Given the description of an element on the screen output the (x, y) to click on. 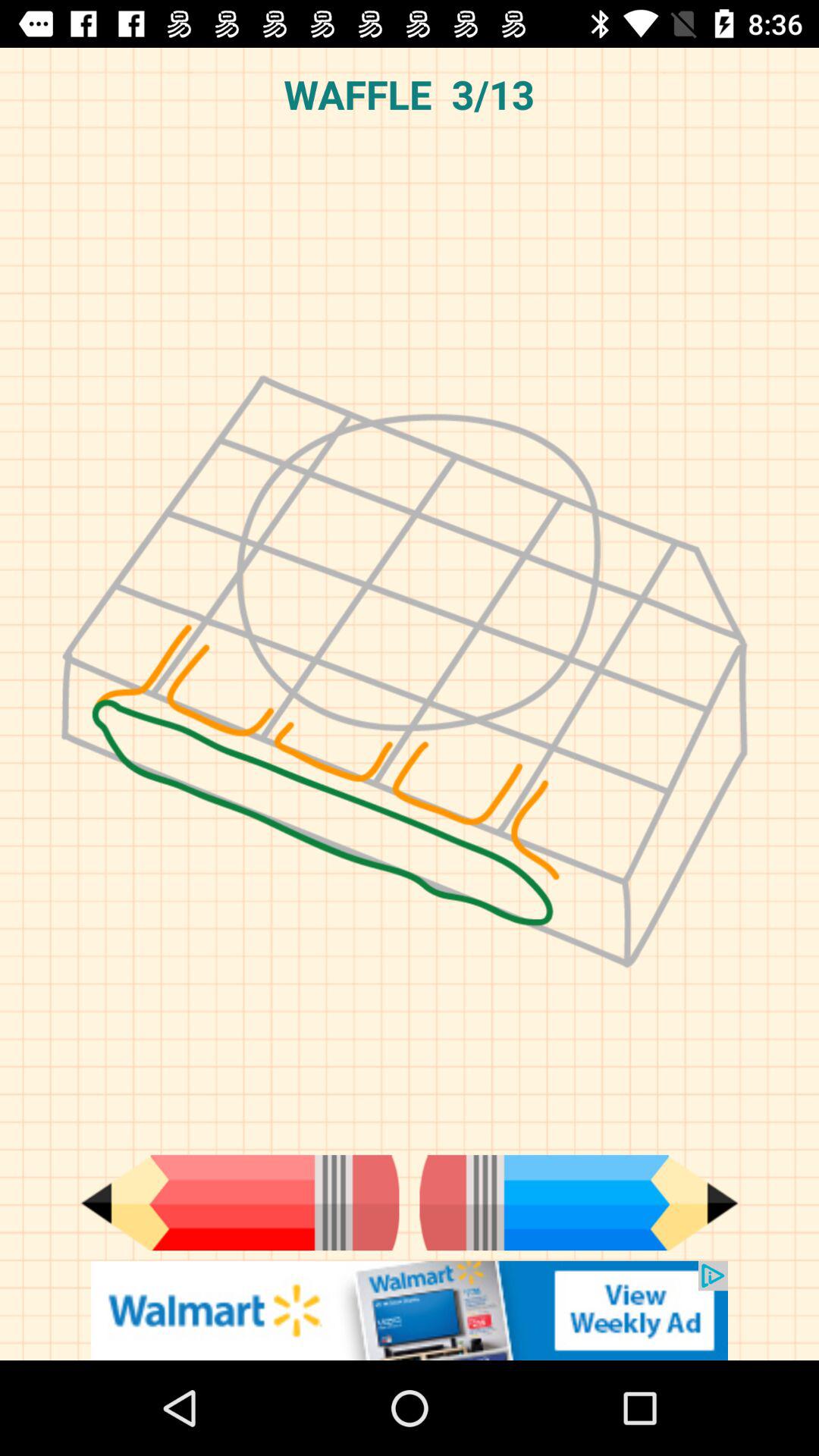
goes to advertisement (409, 1310)
